Given the description of an element on the screen output the (x, y) to click on. 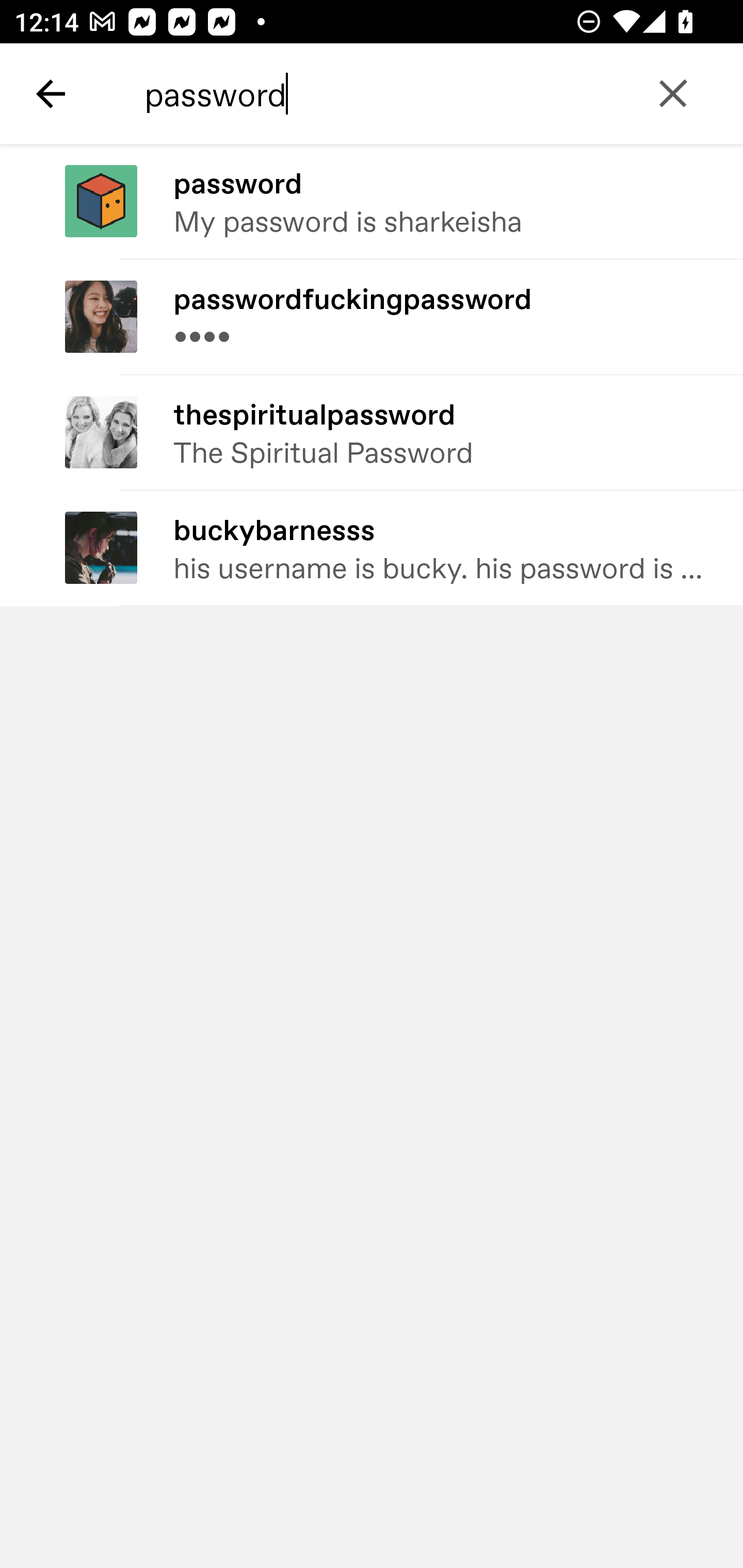
Navigate up (50, 93)
password (422, 93)
Clear Search (673, 93)
password My password is sharkeisha (371, 202)
passwordfuckingpassword •••• (371, 317)
thespiritualpassword The Spiritual Password (371, 432)
